Given the description of an element on the screen output the (x, y) to click on. 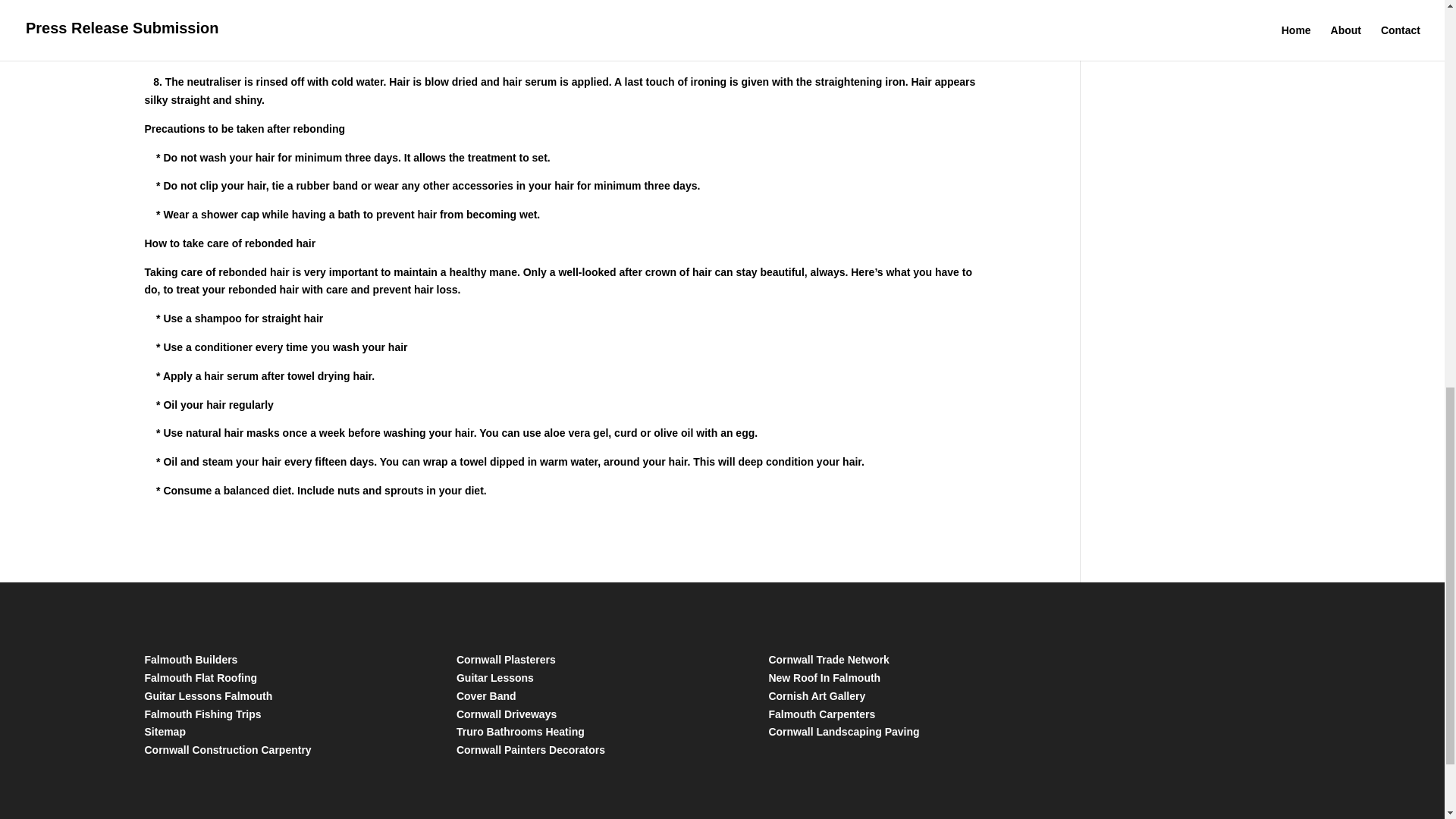
Cornish Art Gallery (816, 695)
Falmouth Builders (190, 659)
Cornwall Driveways (506, 714)
Falmouth Carpenters (821, 714)
Cornwall Painters Decorators (531, 749)
Guitar Lessons Falmouth (208, 695)
Cornwall Trade Network (828, 659)
Truro Bathrooms Heating (521, 731)
Sitemap (164, 731)
Falmouth Fishing Trips (202, 714)
Cornwall Construction Carpentry (227, 749)
Cornwall Plasterers (506, 659)
Falmouth Flat Roofing (200, 677)
Cover Band (486, 695)
Guitar Lessons (495, 677)
